Given the description of an element on the screen output the (x, y) to click on. 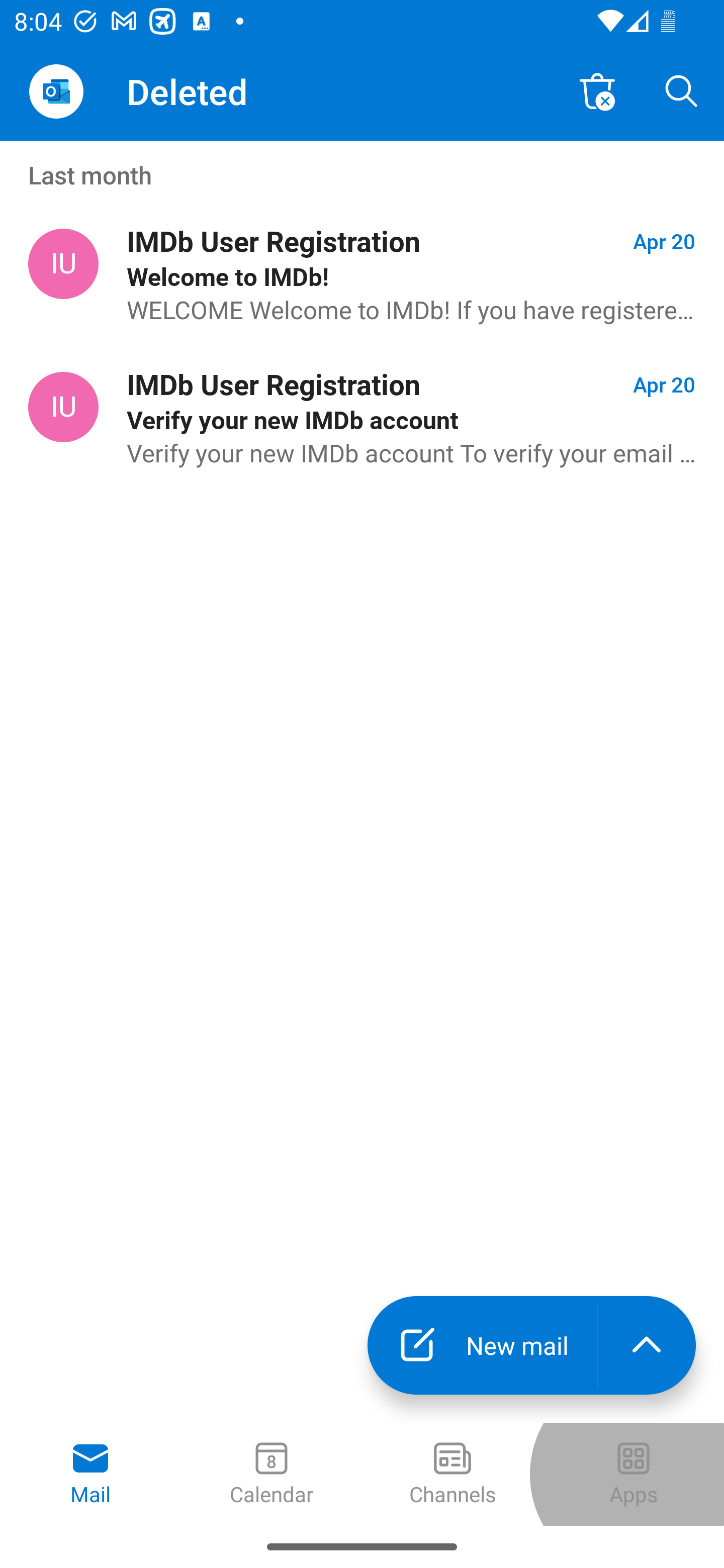
Empty Deleted (597, 90)
Search, ,  (681, 90)
Open Navigation Drawer (55, 91)
IMDb User Registration, do-not-reply-here@imdb.com (63, 263)
IMDb User Registration, do-not-reply-here@imdb.com (63, 406)
New mail (481, 1344)
launch the extended action menu (646, 1344)
Calendar (271, 1474)
Channels (452, 1474)
Apps (633, 1474)
